Given the description of an element on the screen output the (x, y) to click on. 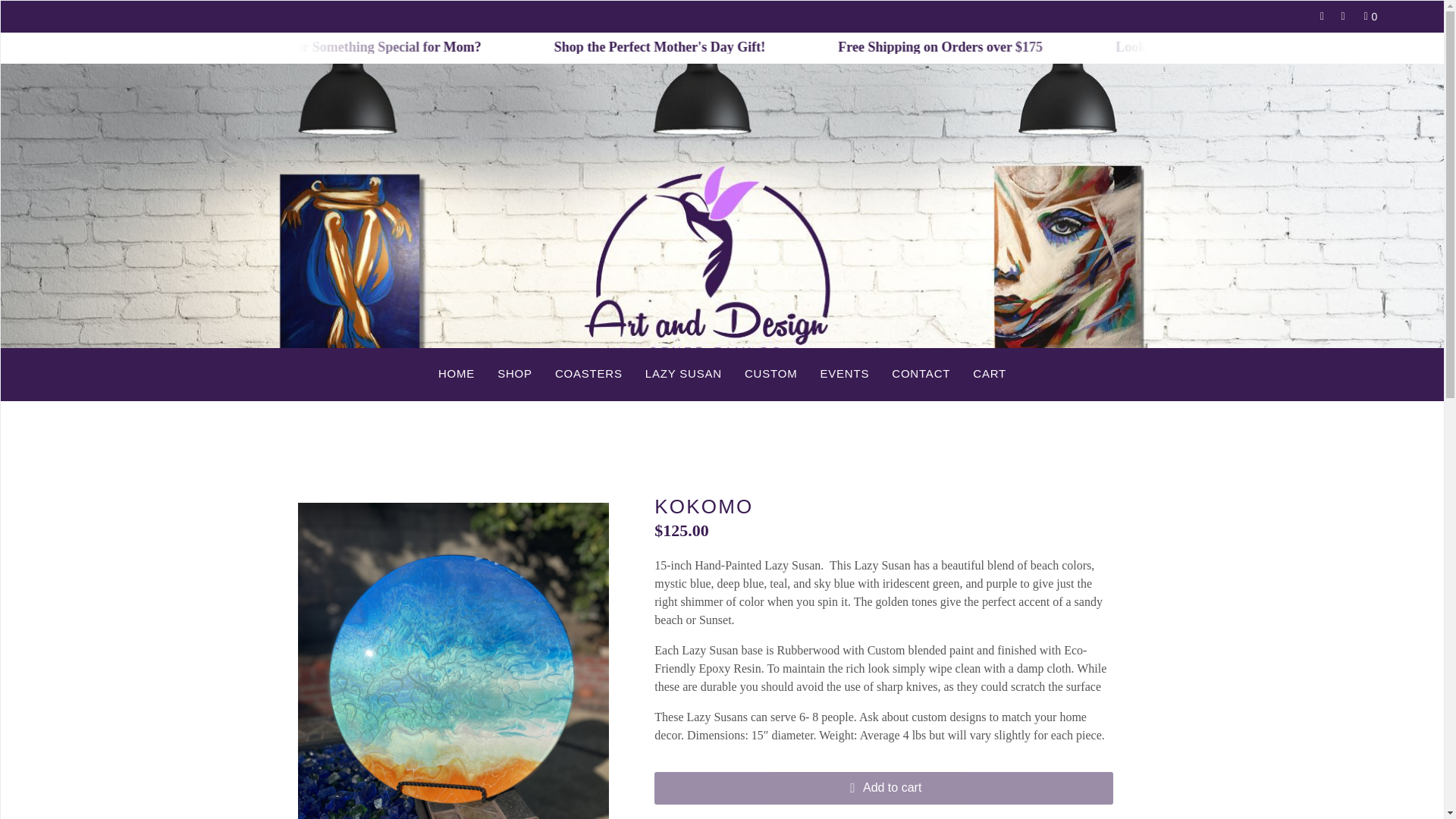
SHOP (514, 373)
Kokomo revised (764, 660)
CONTACT (920, 373)
LAZY SUSAN (683, 373)
CUSTOM (771, 373)
EVENTS (844, 373)
COASTERS (588, 373)
HOME (456, 373)
Kokomo revised (452, 660)
CART (988, 373)
